Given the description of an element on the screen output the (x, y) to click on. 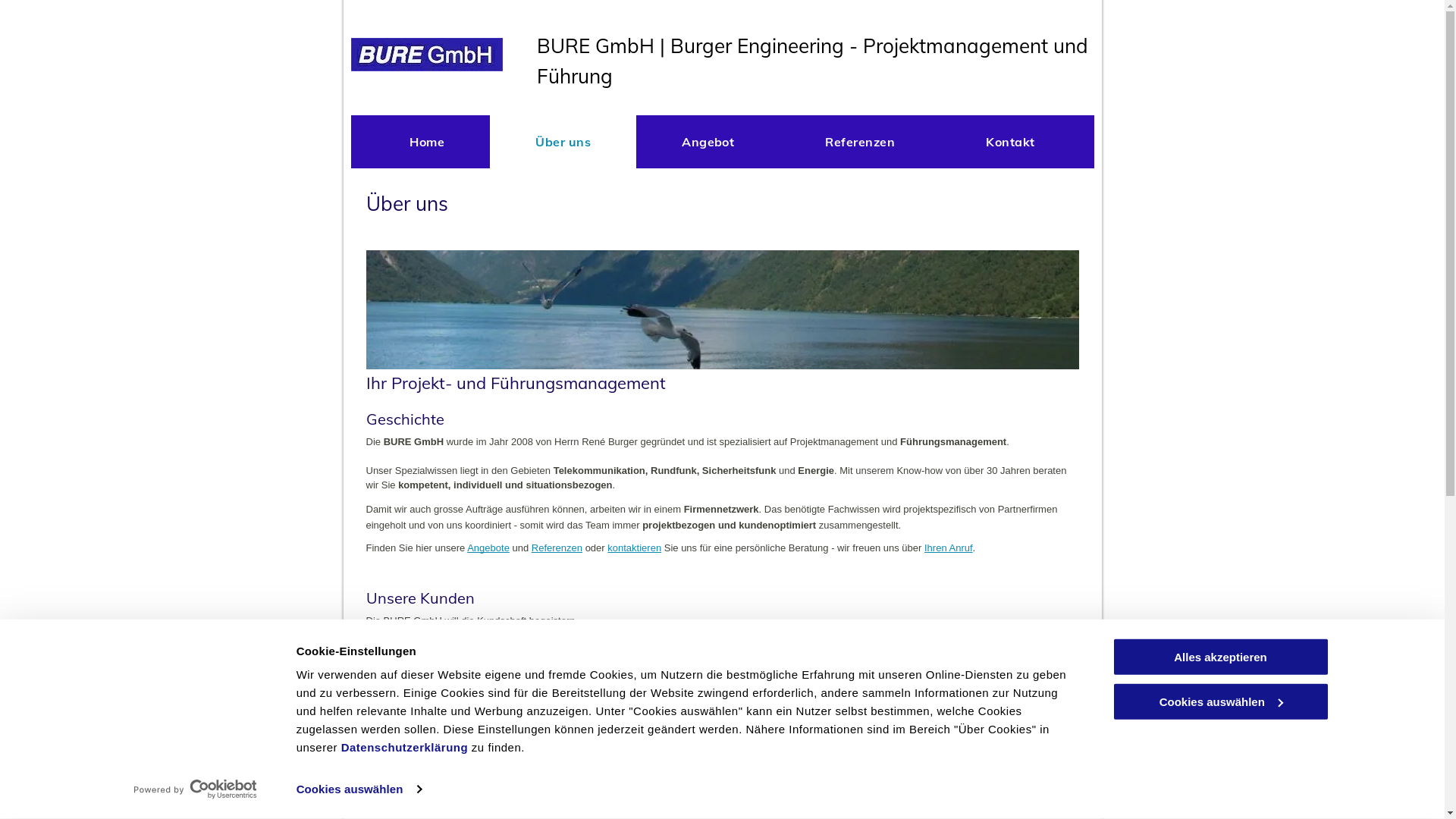
Referenzen Element type: text (556, 547)
Ihren Anruf Element type: text (948, 547)
Home Element type: text (426, 141)
Alles akzeptieren Element type: text (1219, 656)
Angebot Element type: text (707, 141)
Kontakt Element type: text (1009, 141)
kontaktieren Element type: text (634, 547)
Angebote Element type: text (488, 547)
Referenzen Element type: text (859, 141)
